Given the description of an element on the screen output the (x, y) to click on. 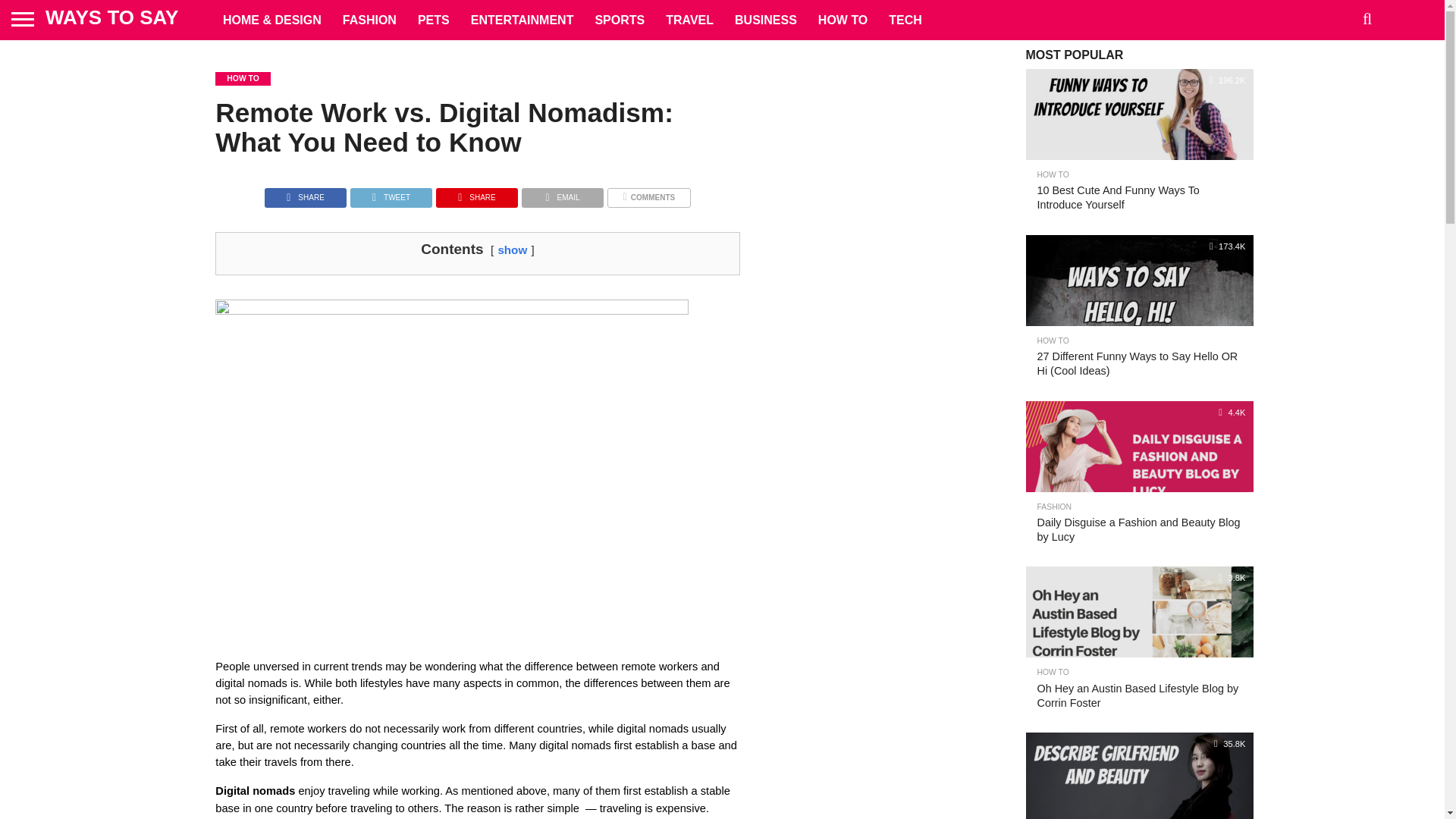
BUSINESS (765, 20)
SHARE (476, 193)
TRAVEL (689, 20)
SPORTS (619, 20)
EMAIL (562, 193)
Pin This Post (476, 193)
TWEET (390, 193)
Share on Facebook (305, 193)
show (512, 249)
Tweet This Post (390, 193)
